Given the description of an element on the screen output the (x, y) to click on. 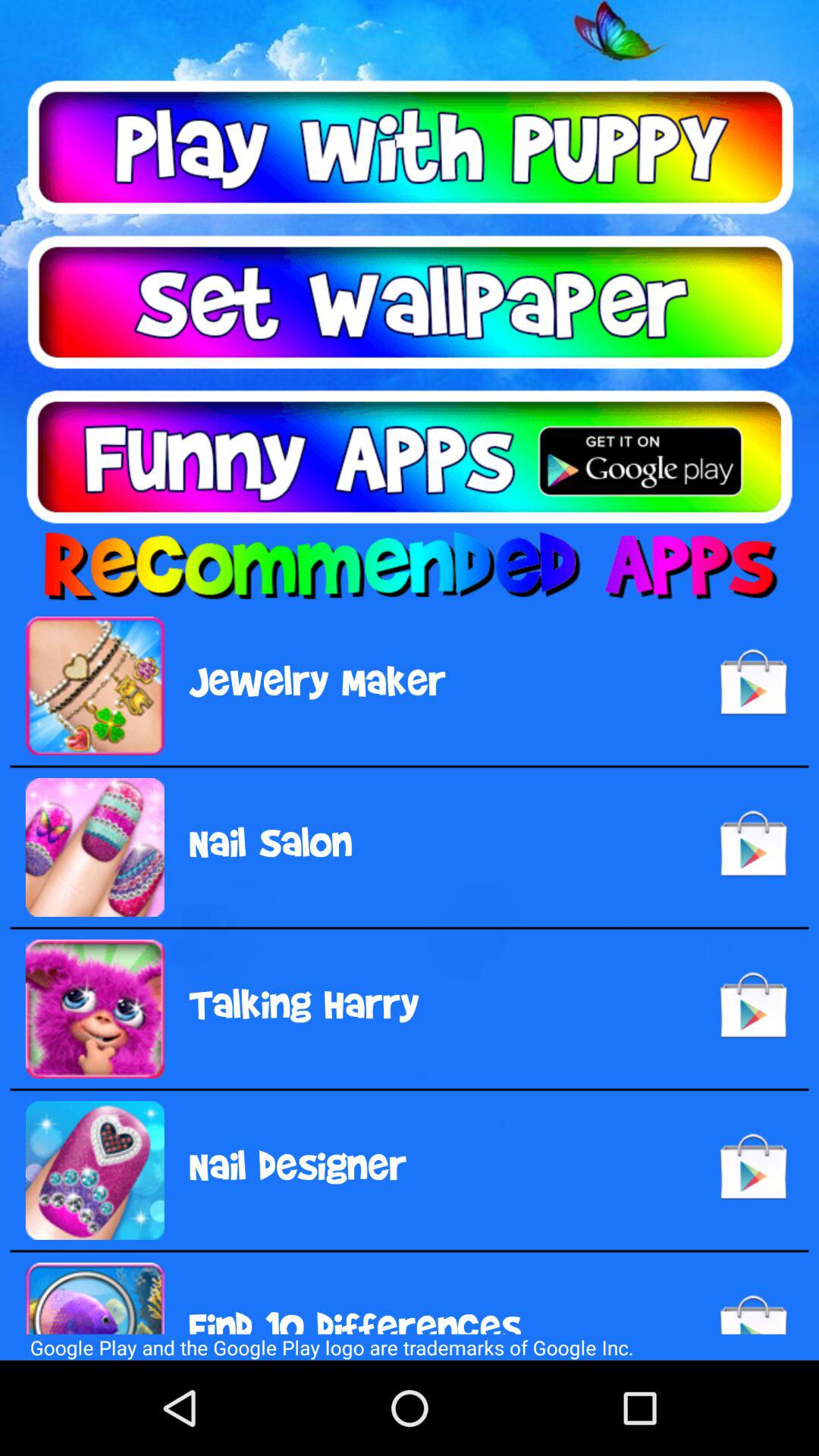
toggle autoplay option (409, 146)
